Given the description of an element on the screen output the (x, y) to click on. 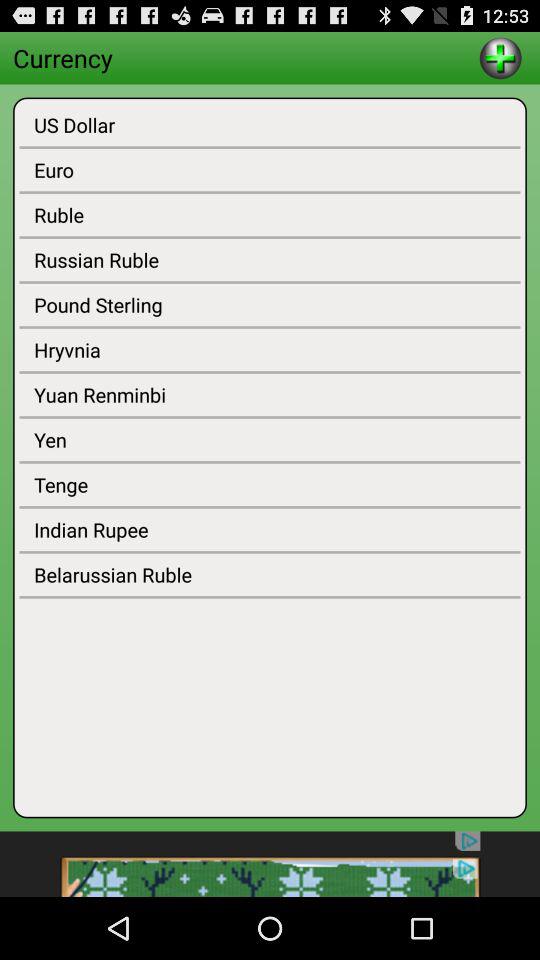
go do add (500, 57)
